Given the description of an element on the screen output the (x, y) to click on. 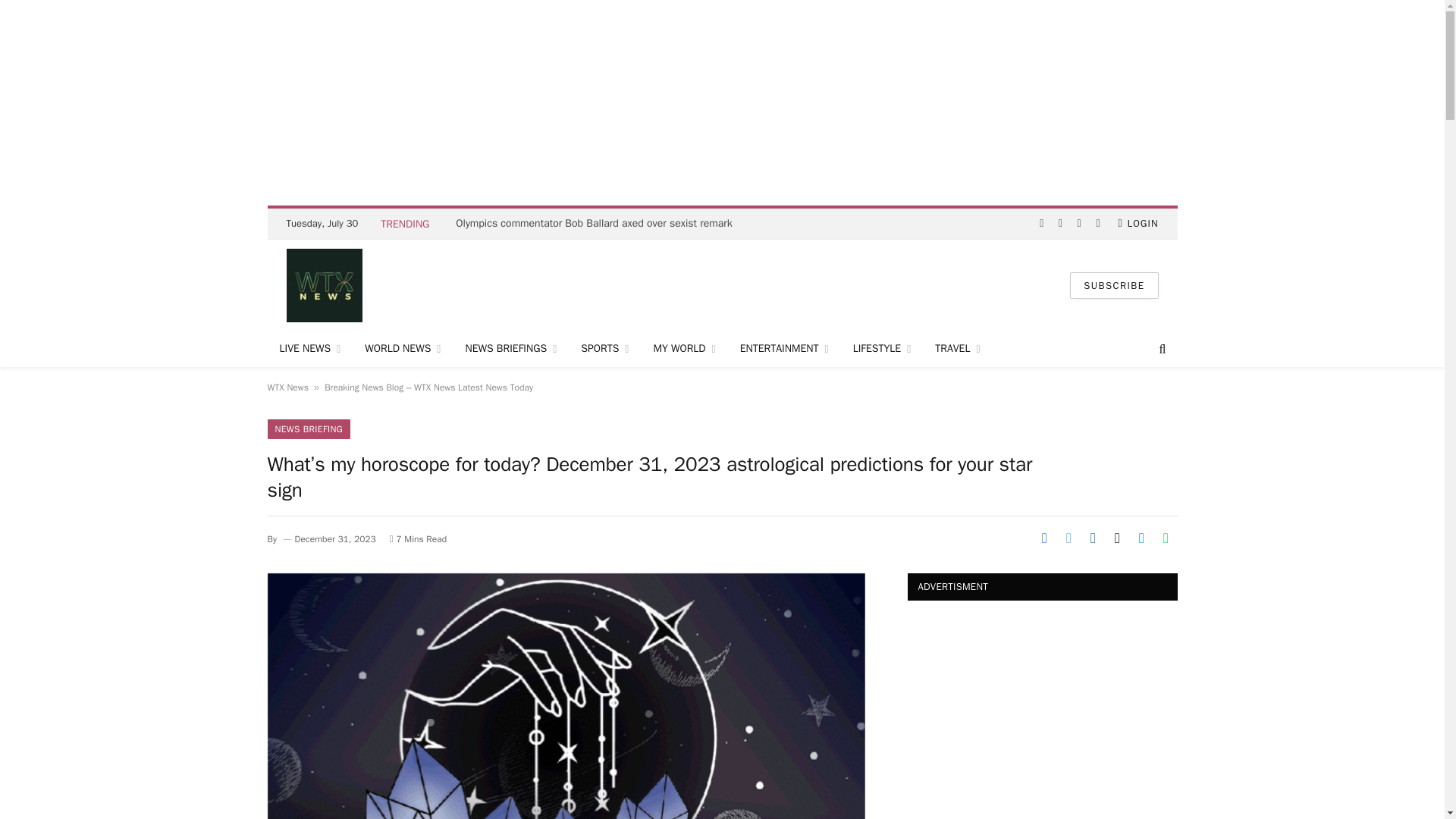
News of the world (402, 348)
Olympics commentator Bob Ballard axed over sexist remark (597, 223)
SPORTS (604, 348)
LIVE NEWS (309, 348)
LOGIN (1138, 223)
WORLD NEWS (402, 348)
Coverage of Live news and events in Realtime (309, 348)
3rd party ad content (721, 284)
NEWS BRIEFINGS (510, 348)
SUBSCRIBE (1113, 284)
